Given the description of an element on the screen output the (x, y) to click on. 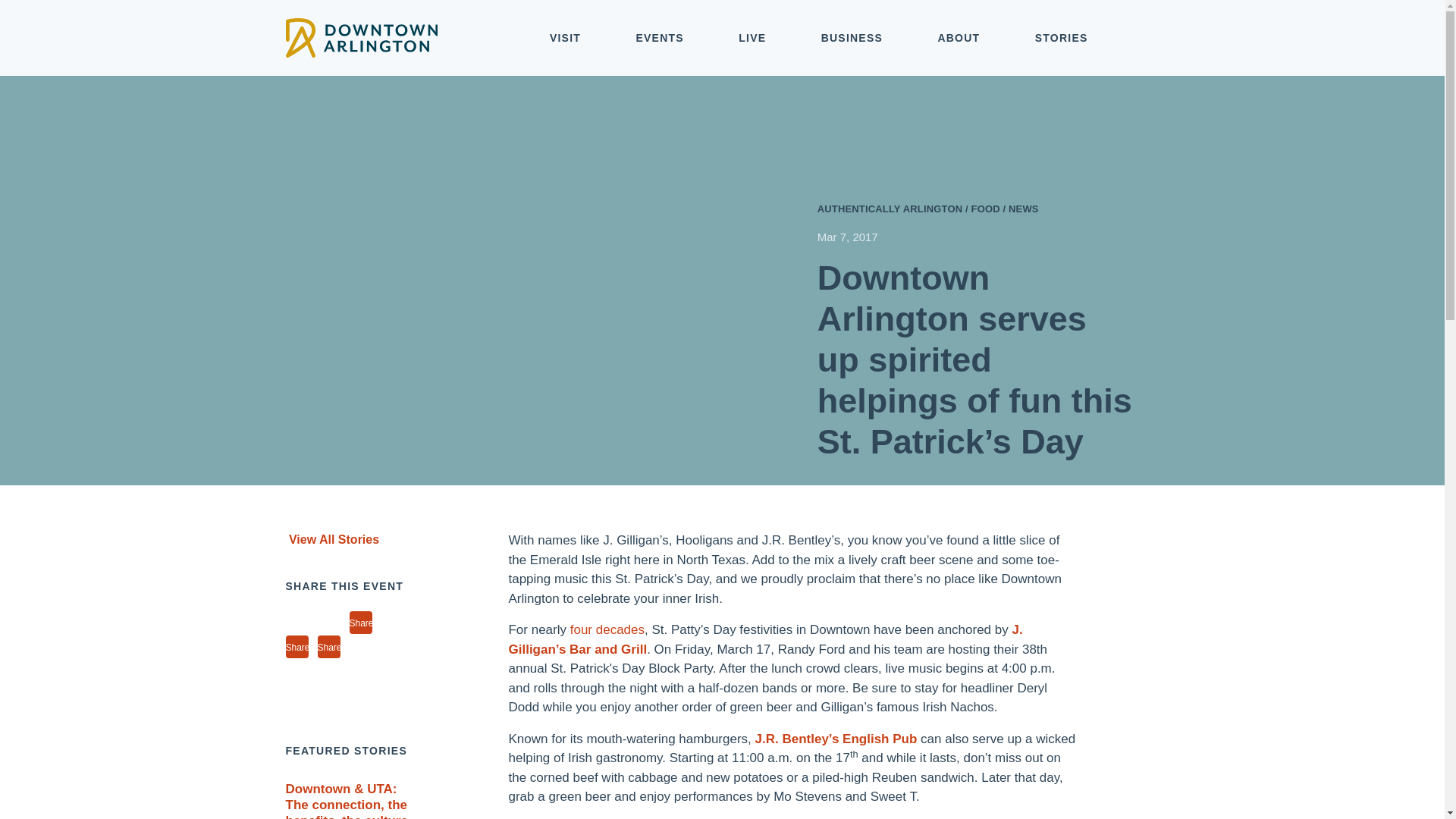
ABOUT (958, 38)
BUSINESS (851, 38)
LIVE (752, 38)
VISIT (565, 38)
EVENTS (659, 38)
